Given the description of an element on the screen output the (x, y) to click on. 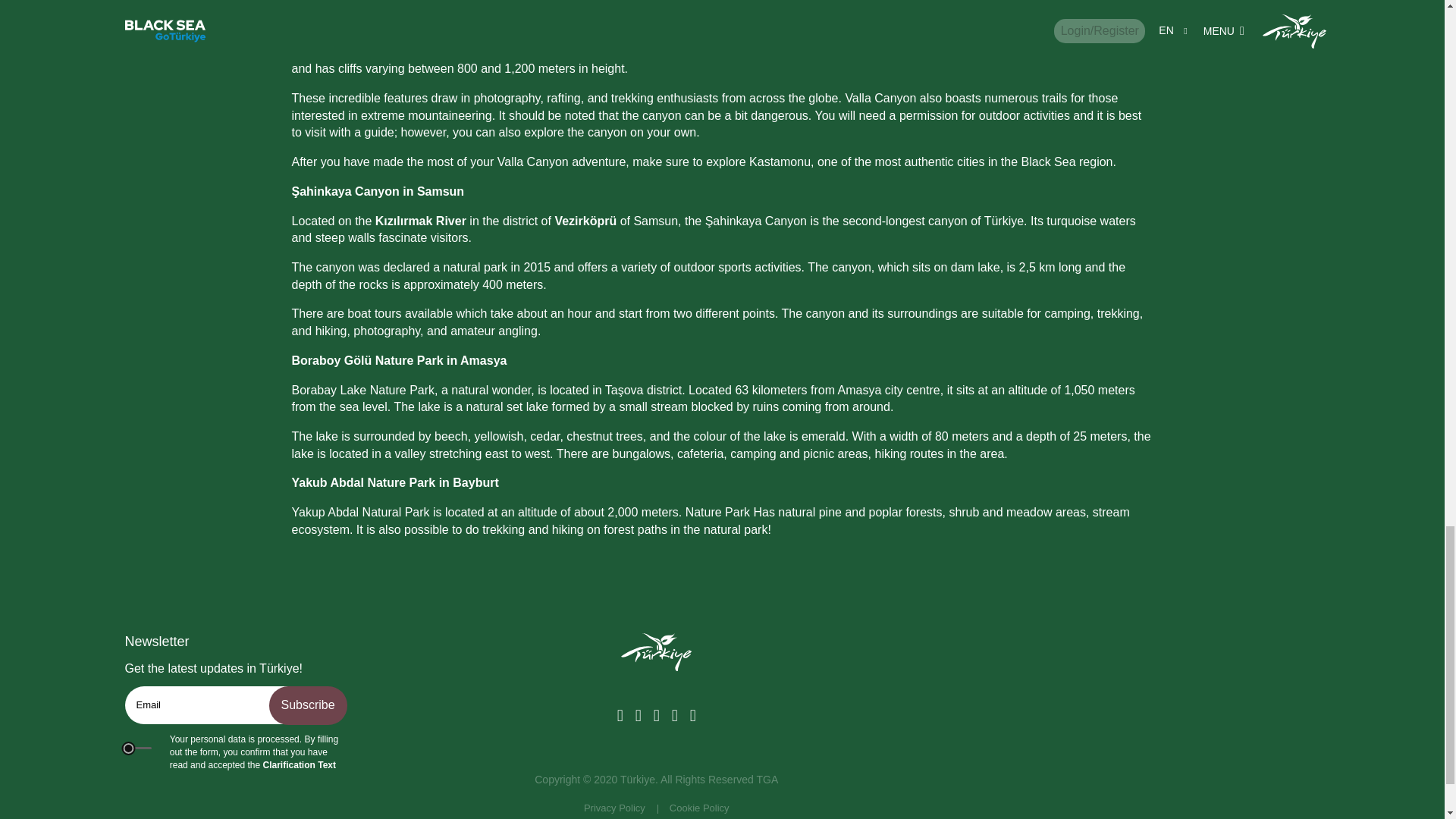
Privacy Policy (614, 807)
Subscribe (306, 704)
Cookie Policy (699, 807)
Clarification Text (298, 765)
